Given the description of an element on the screen output the (x, y) to click on. 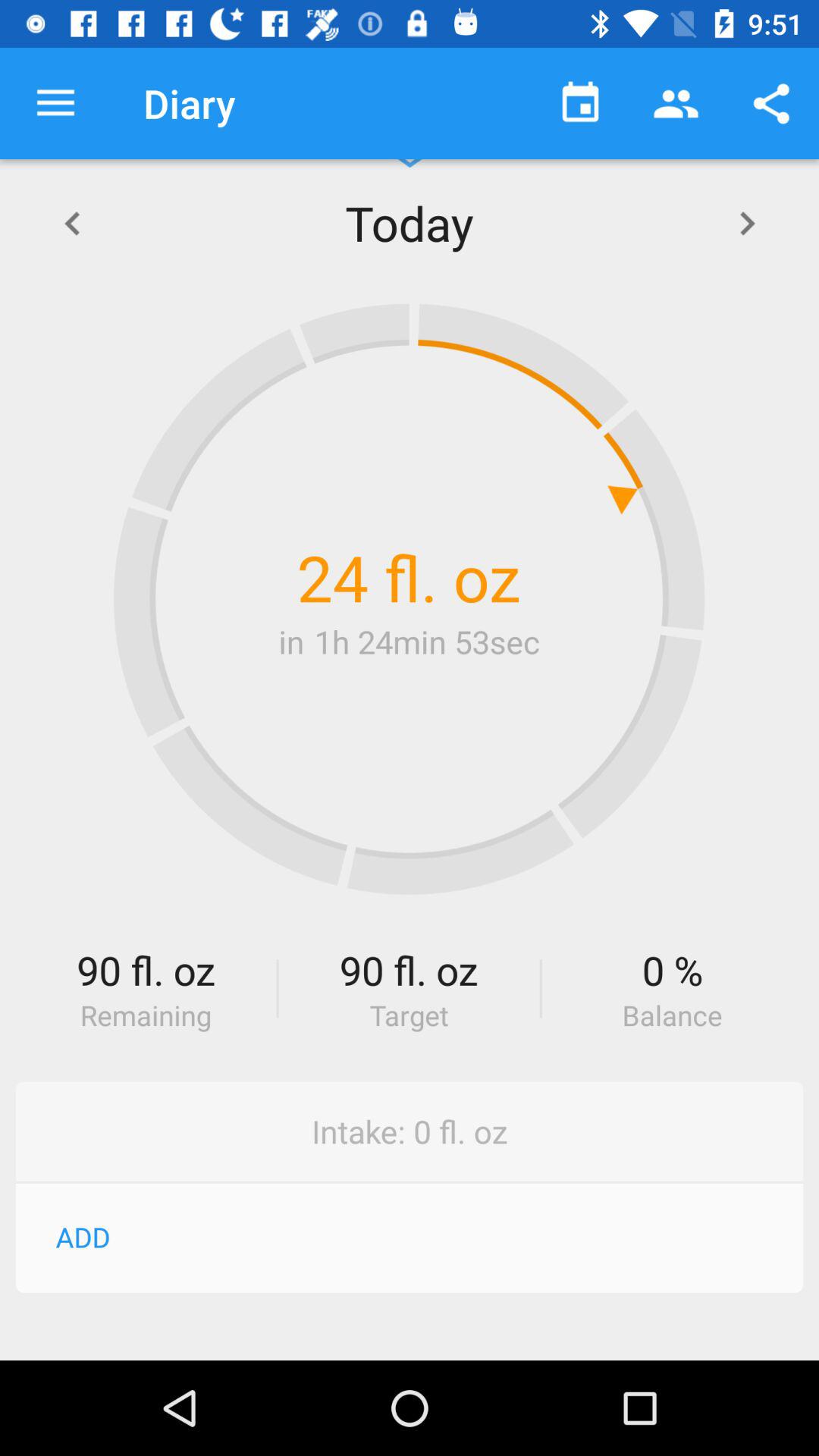
select item next to today icon (747, 222)
